Given the description of an element on the screen output the (x, y) to click on. 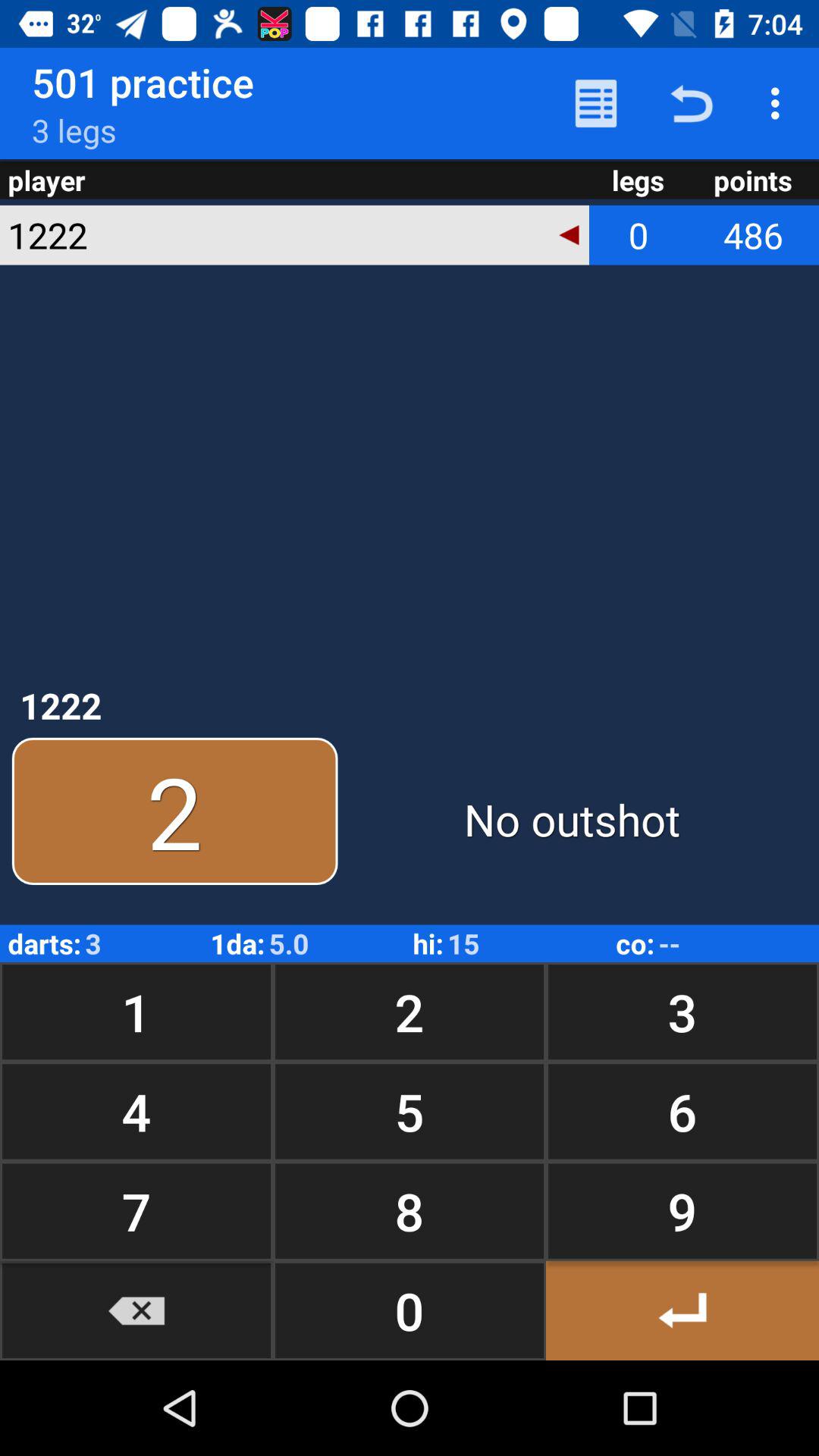
open the item to the right of player (595, 103)
